Given the description of an element on the screen output the (x, y) to click on. 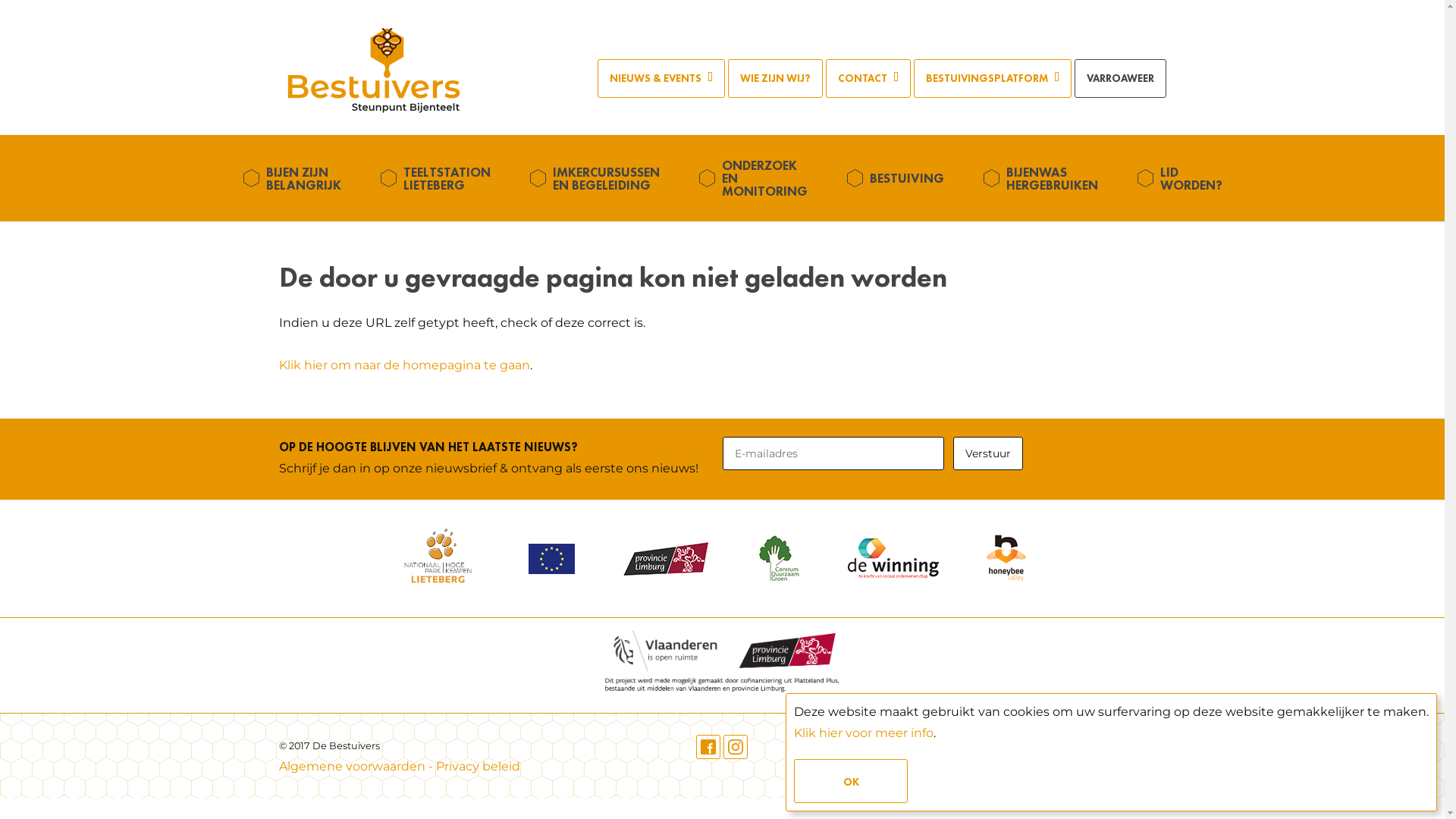
Privacy beleid Element type: text (477, 766)
Webdevelopment: Sanmax Projects Element type: text (1055, 748)
BIJENWAS HERGEBRUIKEN Element type: text (1045, 177)
ONDERZOEK EN MONITORING Element type: text (757, 178)
Klik hier voor meer info Element type: text (863, 732)
Verstuur Element type: text (987, 453)
Algemene voorwaarden - Element type: text (357, 766)
IMKERCURSUSSEN EN BEGELEIDING Element type: text (599, 177)
CONTACT Element type: text (867, 78)
BIJEN ZIJN BELANGRIJK Element type: text (296, 177)
NIEUWS & EVENTS Element type: text (660, 78)
BESTUIVING Element type: text (900, 178)
OK Element type: text (850, 781)
LID WORDEN? Element type: text (1184, 177)
BESTUIVINGSPLATFORM Element type: text (991, 78)
WIE ZIJN WIJ? Element type: text (775, 78)
TEELTSTATION LIETEBERG Element type: text (439, 177)
VARROAWEER Element type: text (1119, 78)
Klik hier om naar de homepagina te gaan Element type: text (404, 364)
